Given the description of an element on the screen output the (x, y) to click on. 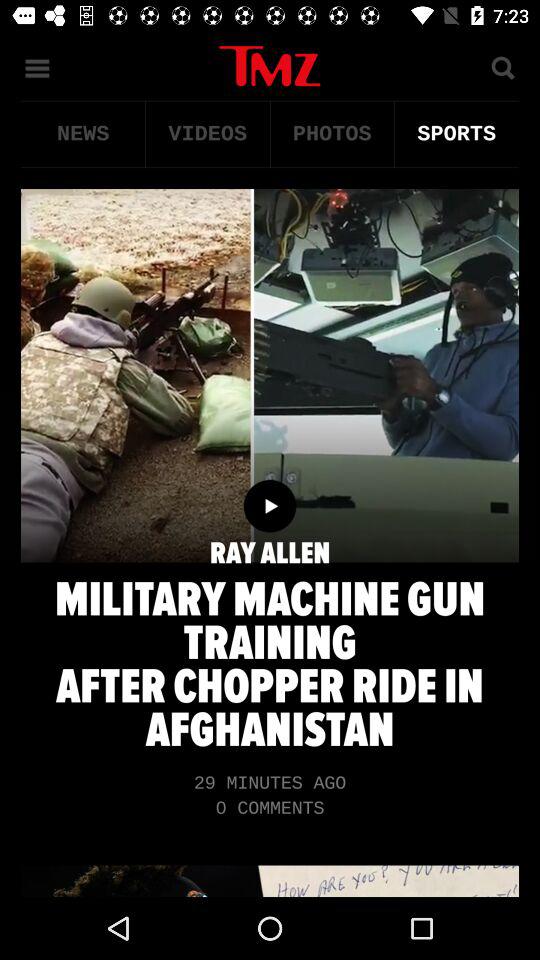
tmz home page (269, 66)
